Given the description of an element on the screen output the (x, y) to click on. 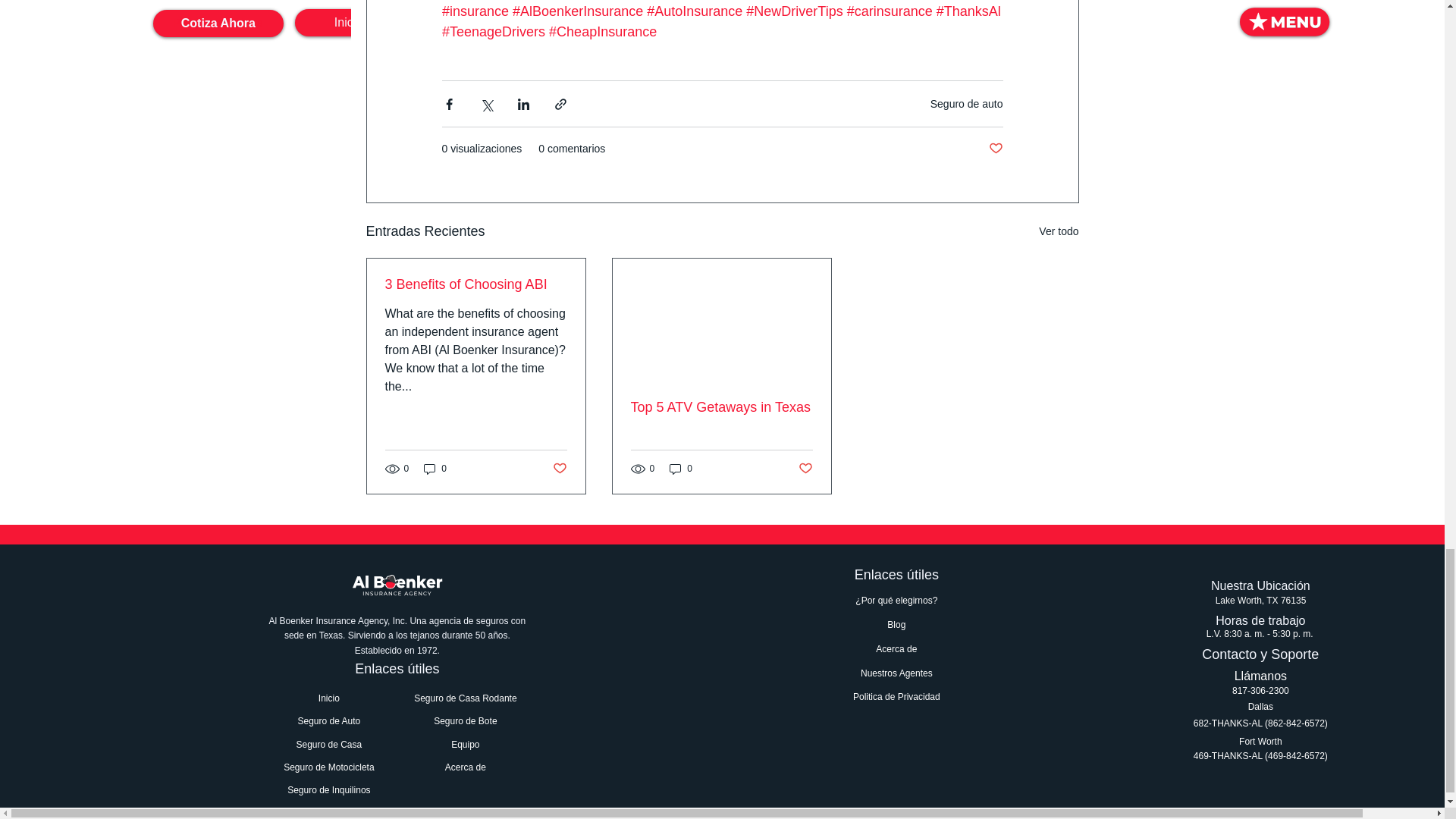
Nuestros Agentes (895, 673)
Entrada no marcada como Me Gusta (995, 148)
Entrada no marcada como Me Gusta (804, 468)
Blog (895, 625)
Ver todo (1058, 231)
Politica de Privacidad (895, 697)
Seguro de auto (966, 103)
Entrada no marcada como Me Gusta (558, 468)
3 Benefits of Choosing ABI (476, 284)
0 (681, 468)
